Given the description of an element on the screen output the (x, y) to click on. 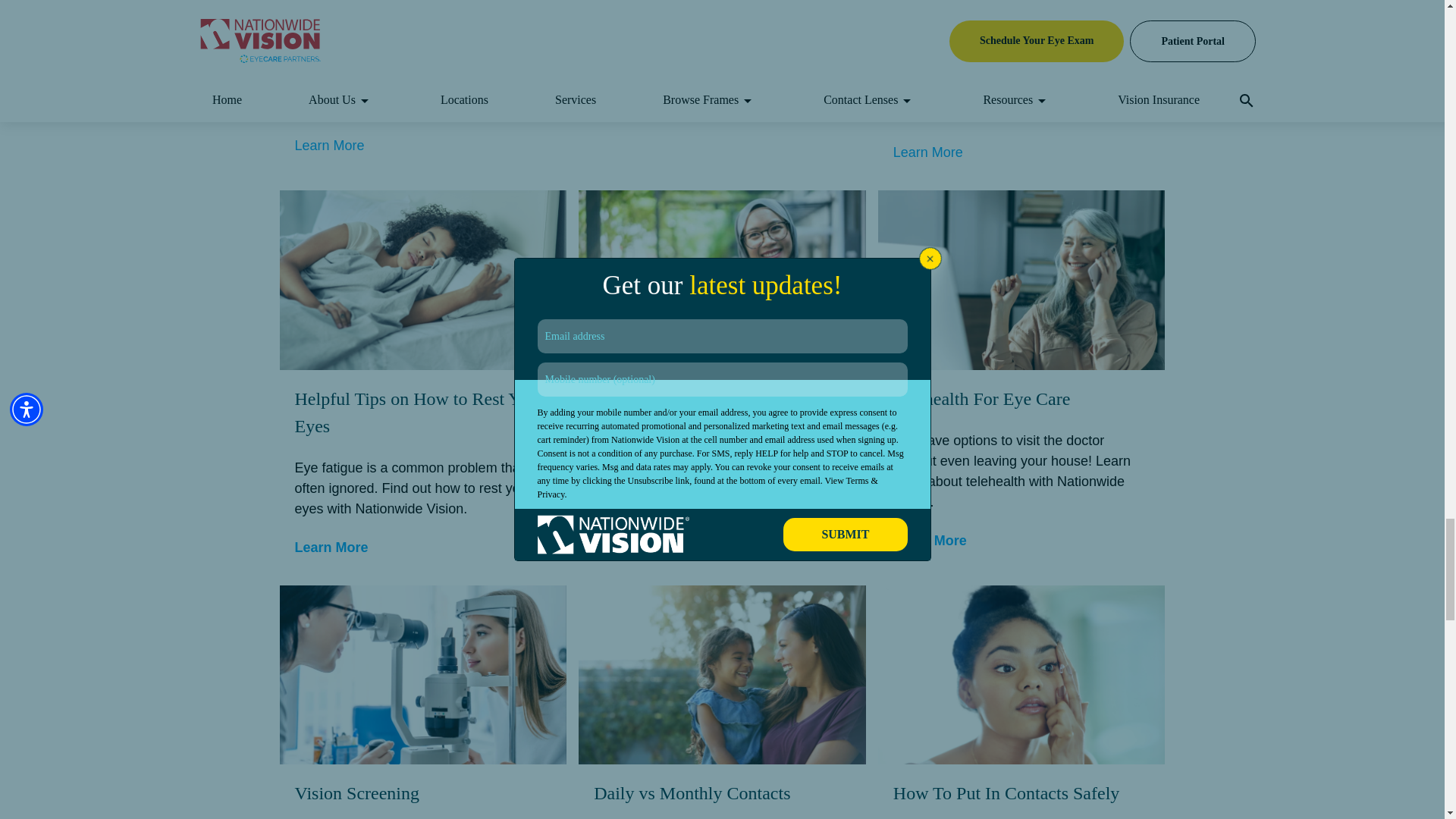
Learn More (630, 56)
Learn More (927, 151)
Learn More (630, 540)
Learn More (331, 547)
Learn More (929, 540)
Learn More (329, 145)
